Given the description of an element on the screen output the (x, y) to click on. 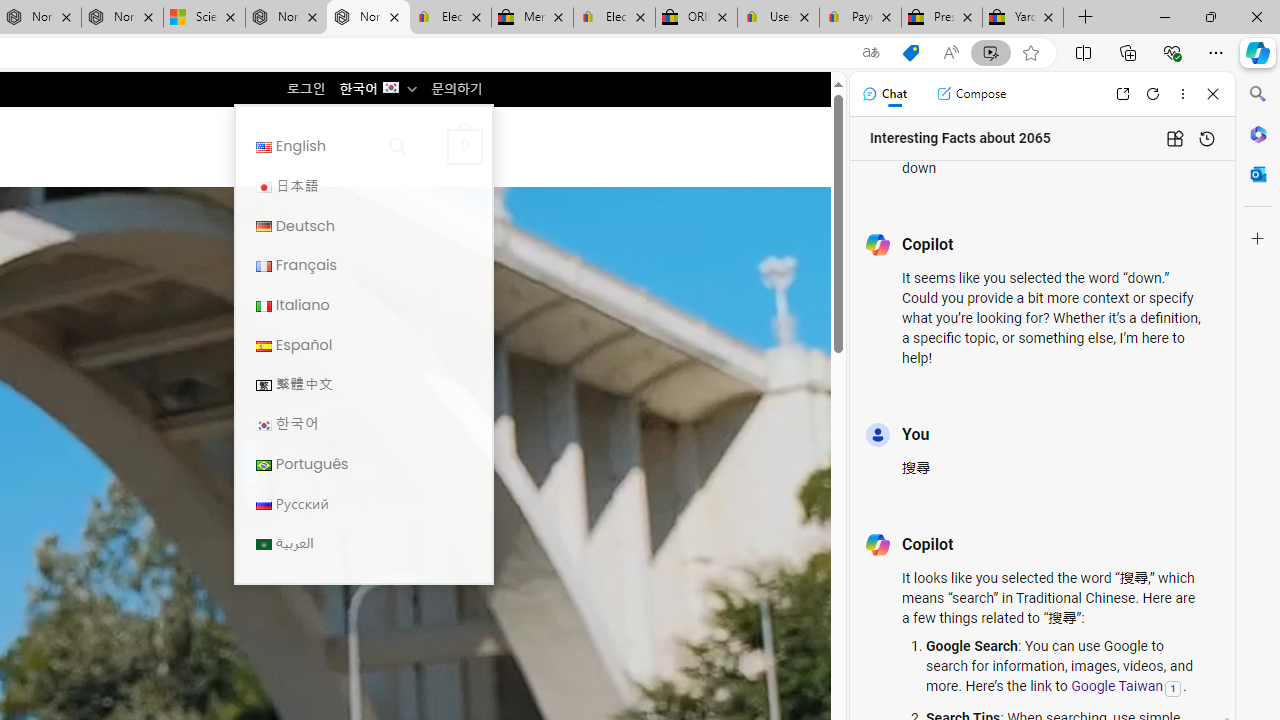
Italiano Italiano (363, 303)
 Deutsch (363, 225)
  0   (464, 146)
English (263, 146)
Italiano (263, 305)
